Given the description of an element on the screen output the (x, y) to click on. 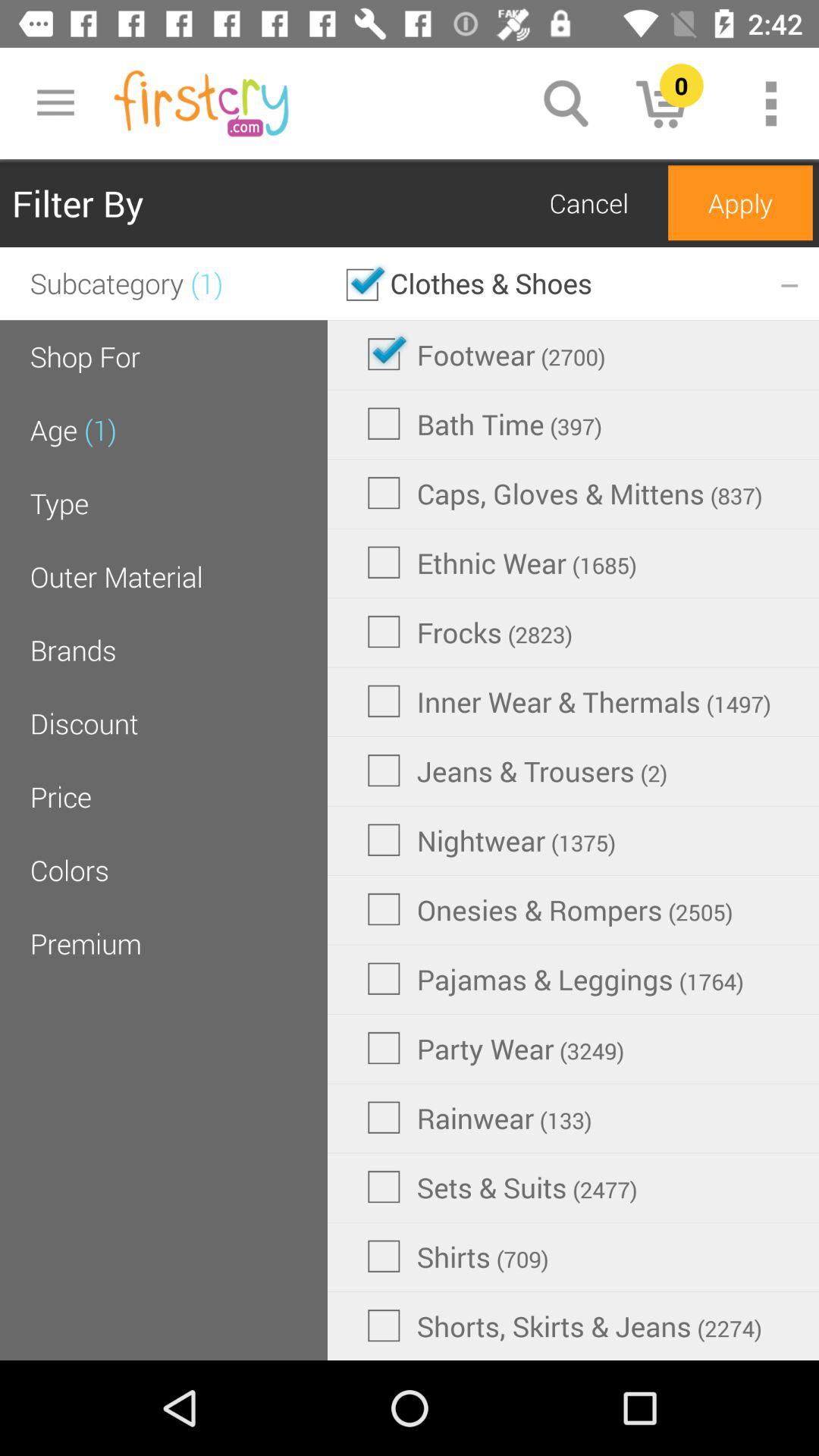
tap the icon below the type icon (116, 576)
